Given the description of an element on the screen output the (x, y) to click on. 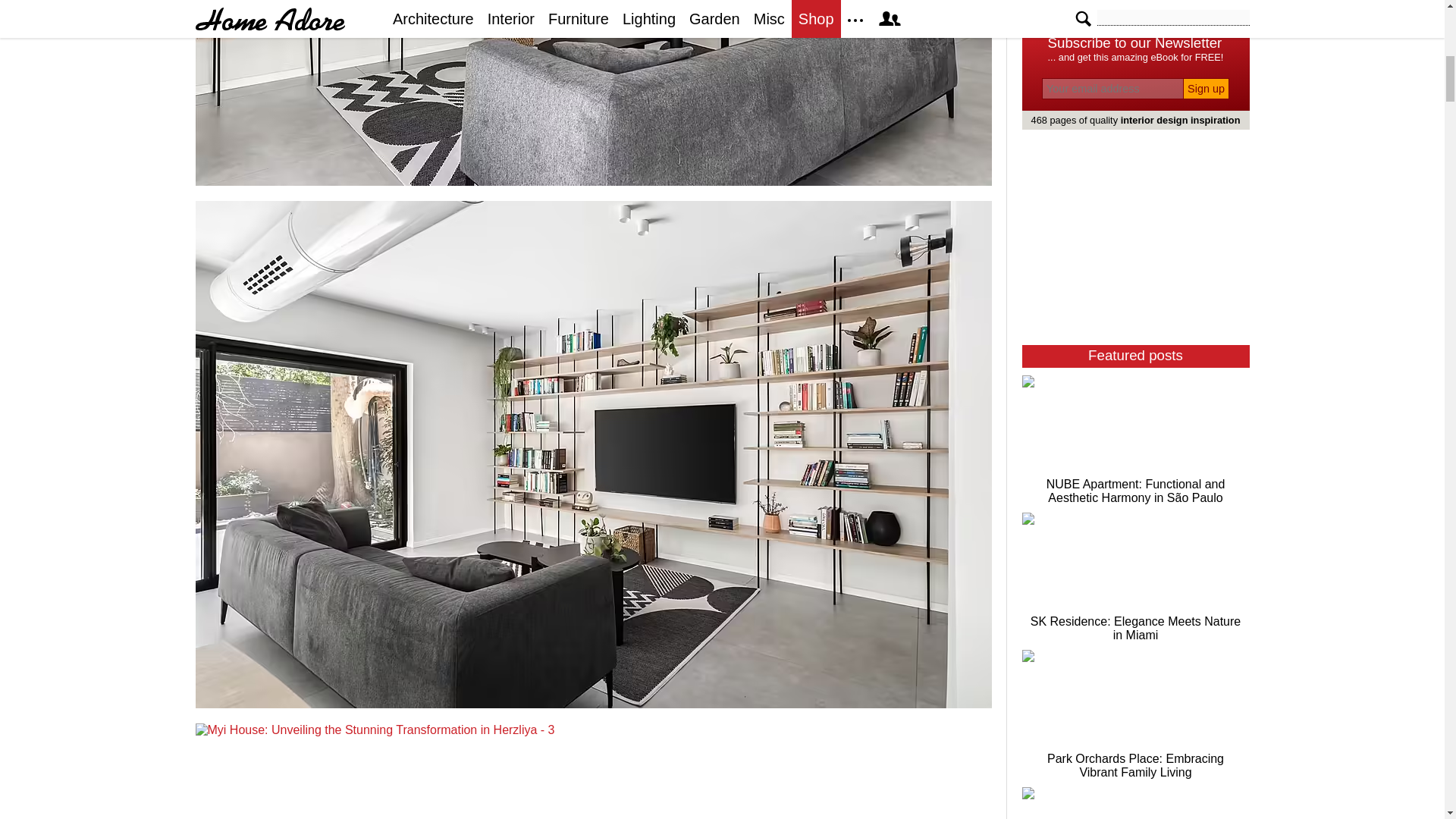
Sign up (1205, 88)
